Given the description of an element on the screen output the (x, y) to click on. 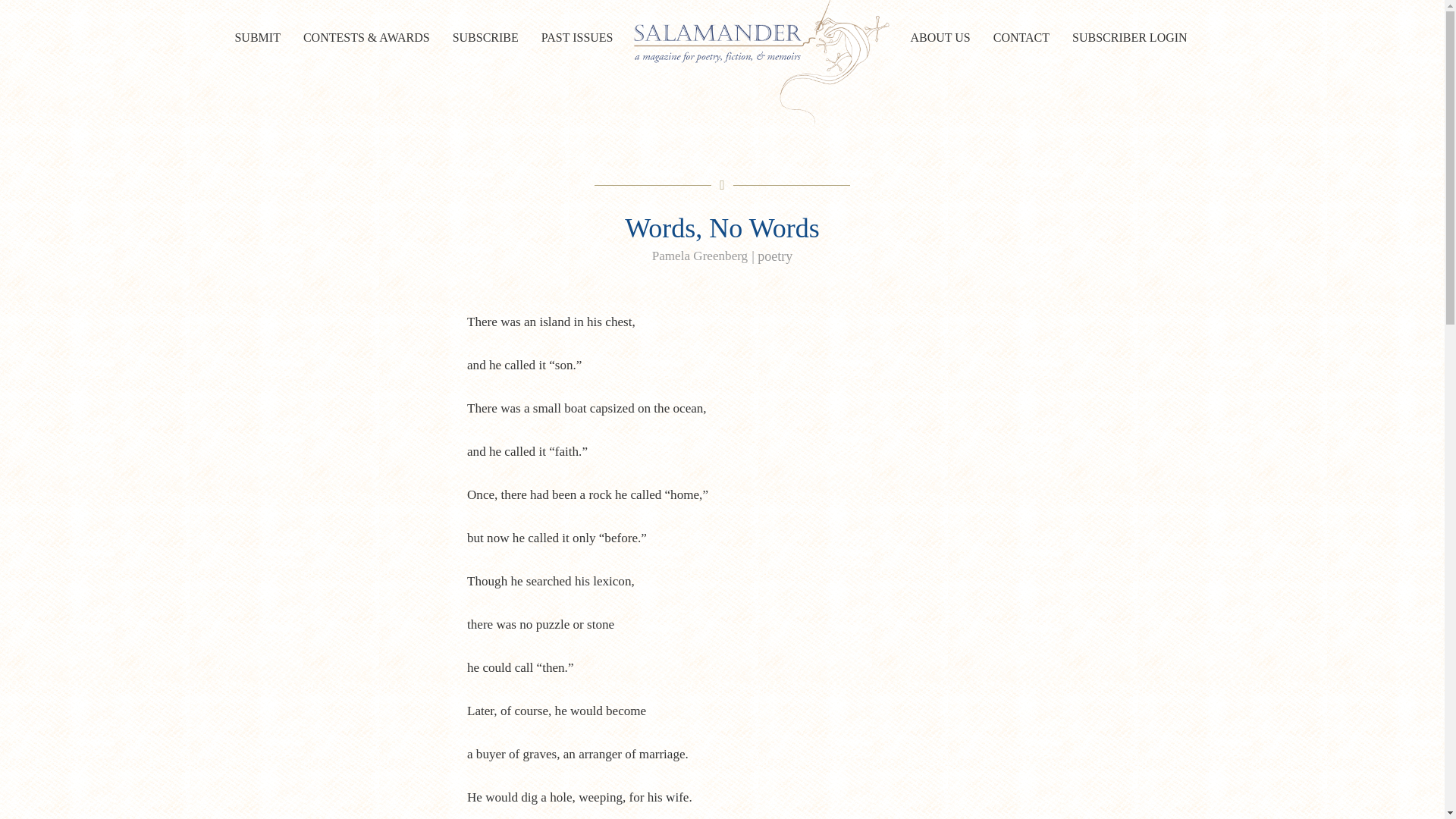
SUBMIT (256, 38)
SUBSCRIBER LOGIN (1129, 38)
SUBSCRIBE (485, 38)
CONTACT (1021, 38)
ABOUT US (939, 38)
PAST ISSUES (576, 38)
poetry (774, 255)
